Given the description of an element on the screen output the (x, y) to click on. 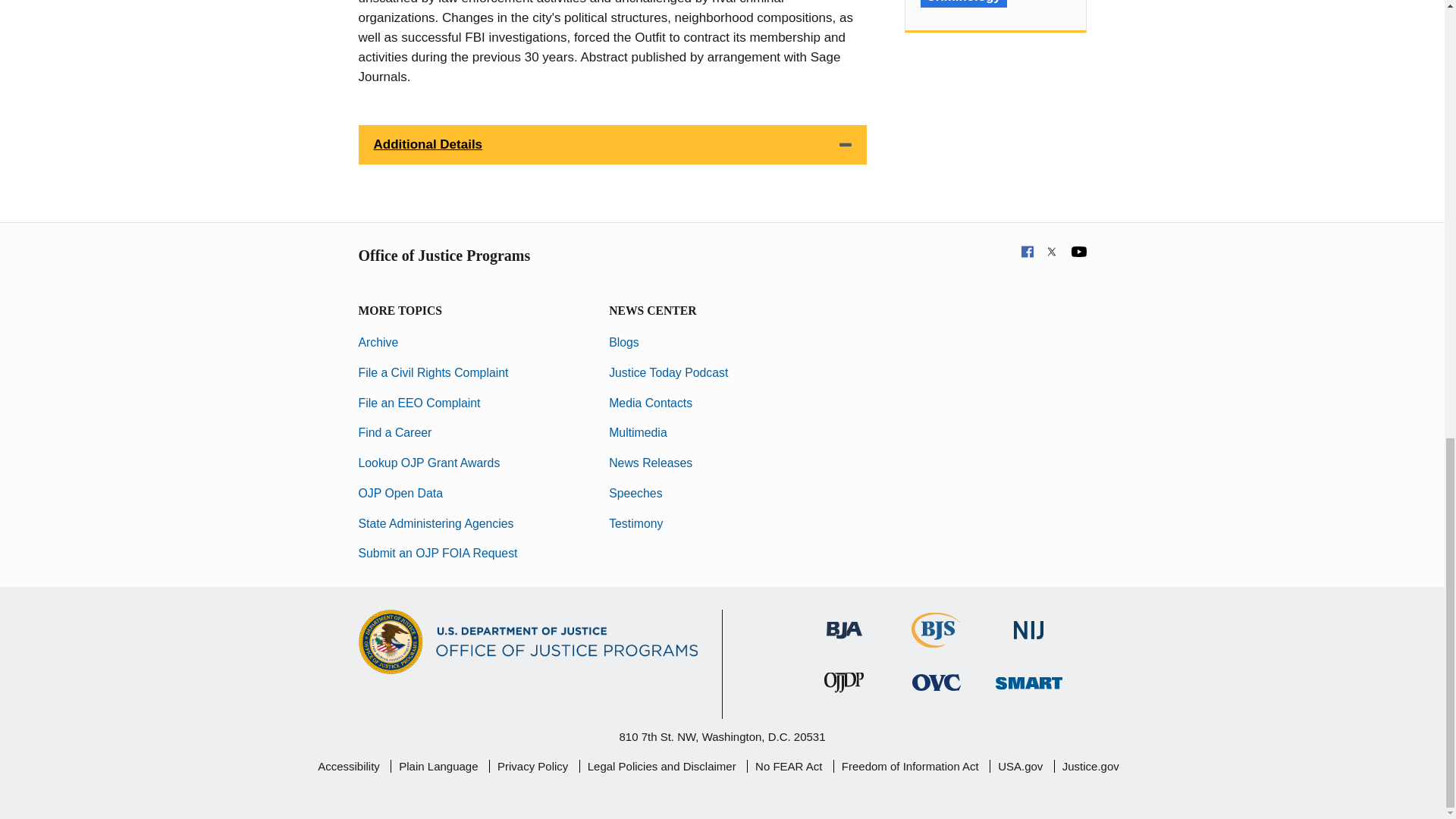
File a Civil Rights Complaint (433, 372)
Additional Details (612, 144)
Archive (377, 341)
Criminology (963, 3)
File an EEO Complaint (419, 402)
Find a Career (394, 431)
